Given the description of an element on the screen output the (x, y) to click on. 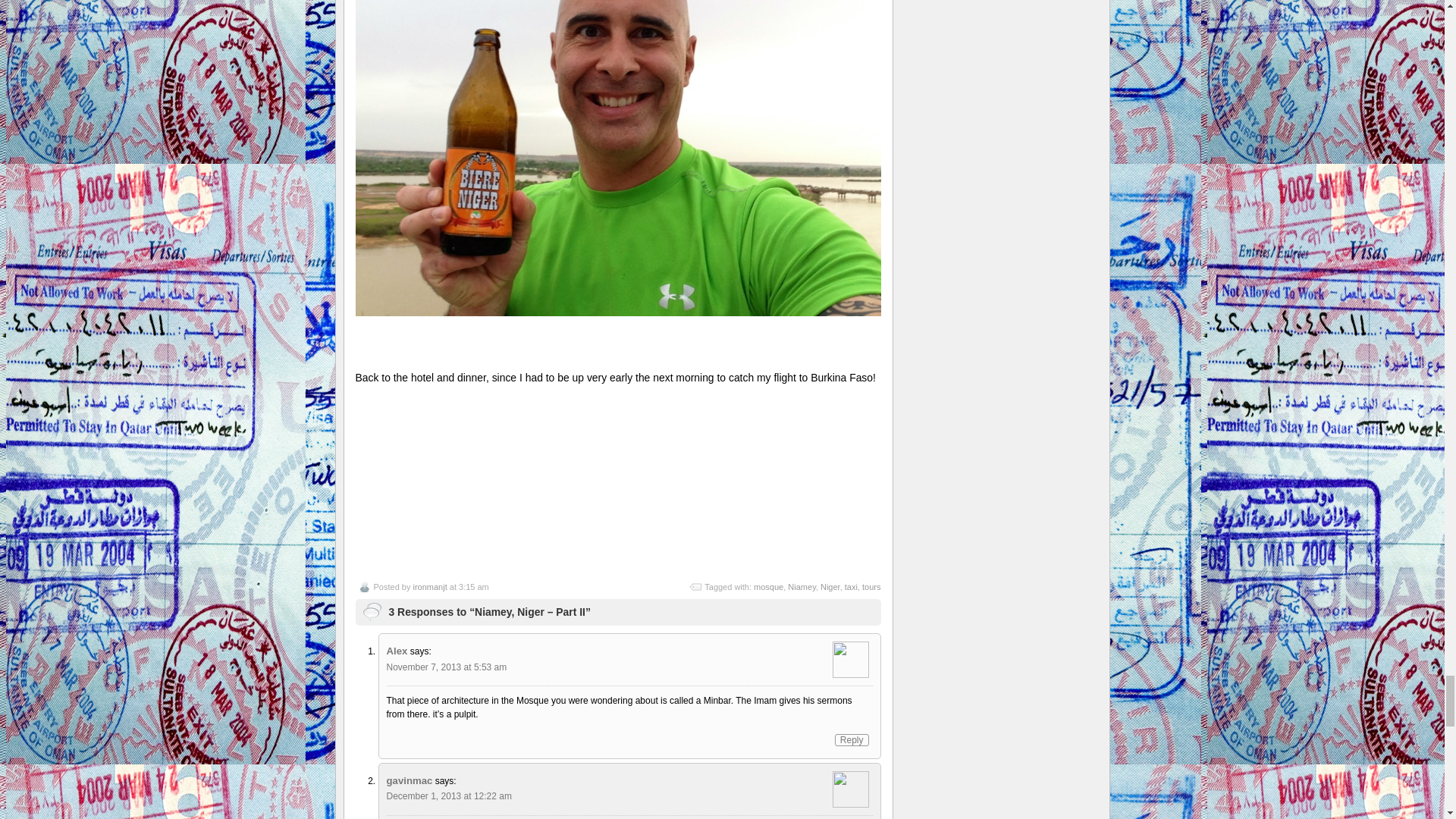
Niger (830, 586)
ironmanjt (429, 586)
taxi (850, 586)
November 7, 2013 at 5:53 am (446, 666)
December 1, 2013 at 12:22 am (449, 796)
tours (870, 586)
Niamey (801, 586)
mosque (768, 586)
Reply (851, 739)
